Given the description of an element on the screen output the (x, y) to click on. 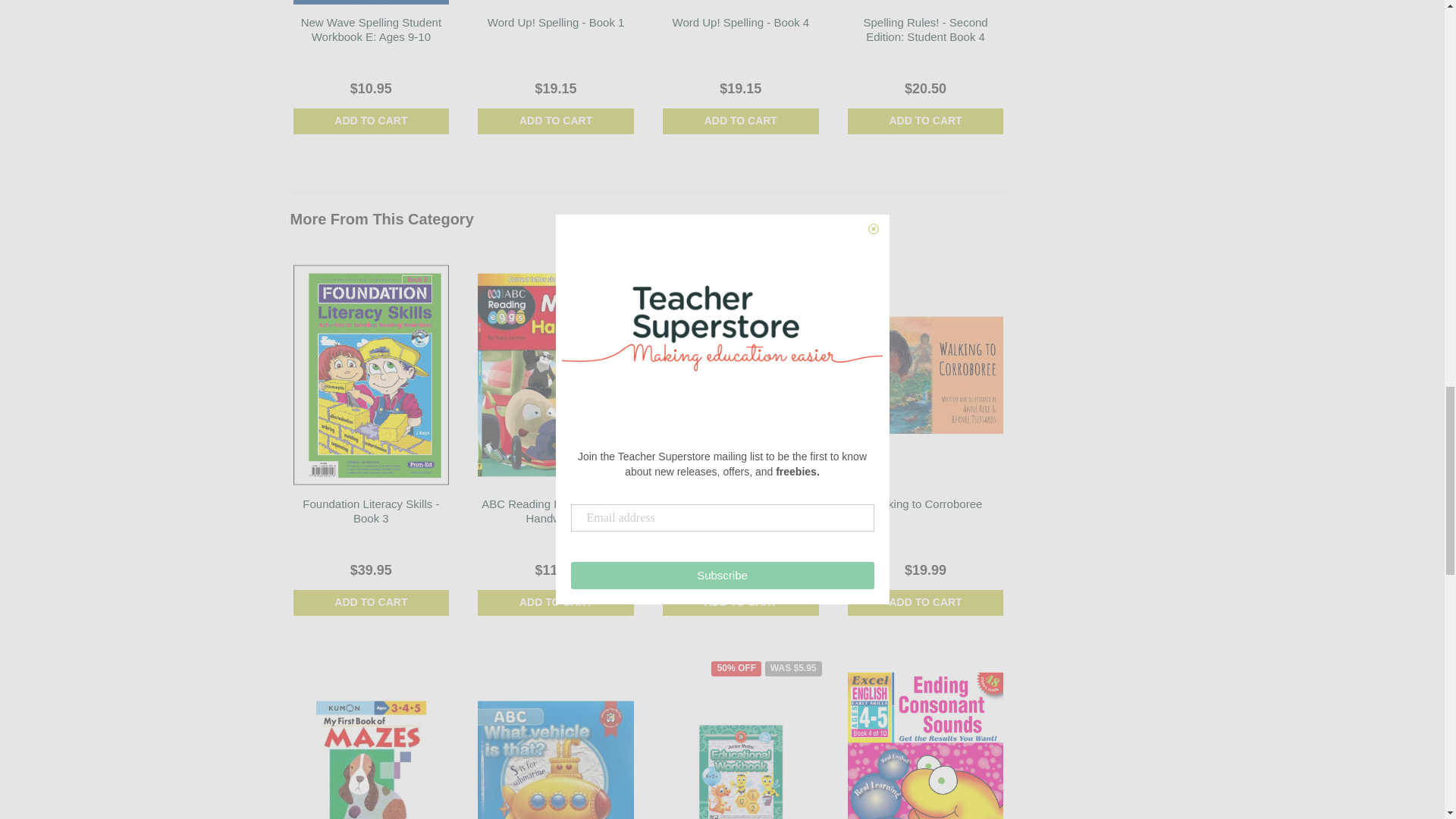
Word Up! Spelling - Book 1 (555, 21)
Add to Cart (555, 602)
Add to Cart (925, 121)
Spelling Rules! - Second Edition: Student Book 4 (925, 29)
Word Up! Spelling - Book 4 (740, 21)
Add to Cart (740, 602)
New Wave Spelling Student Workbook E: Ages 9-10 (371, 29)
Add to Cart (740, 121)
Add to Cart (555, 121)
Walking to Corroboree (925, 503)
Add to Cart (370, 602)
Add to Cart (370, 121)
Foundation Literacy Skills - Book 3 (370, 511)
ABC Reading Eggs - My First Handwriting (555, 511)
